Given the description of an element on the screen output the (x, y) to click on. 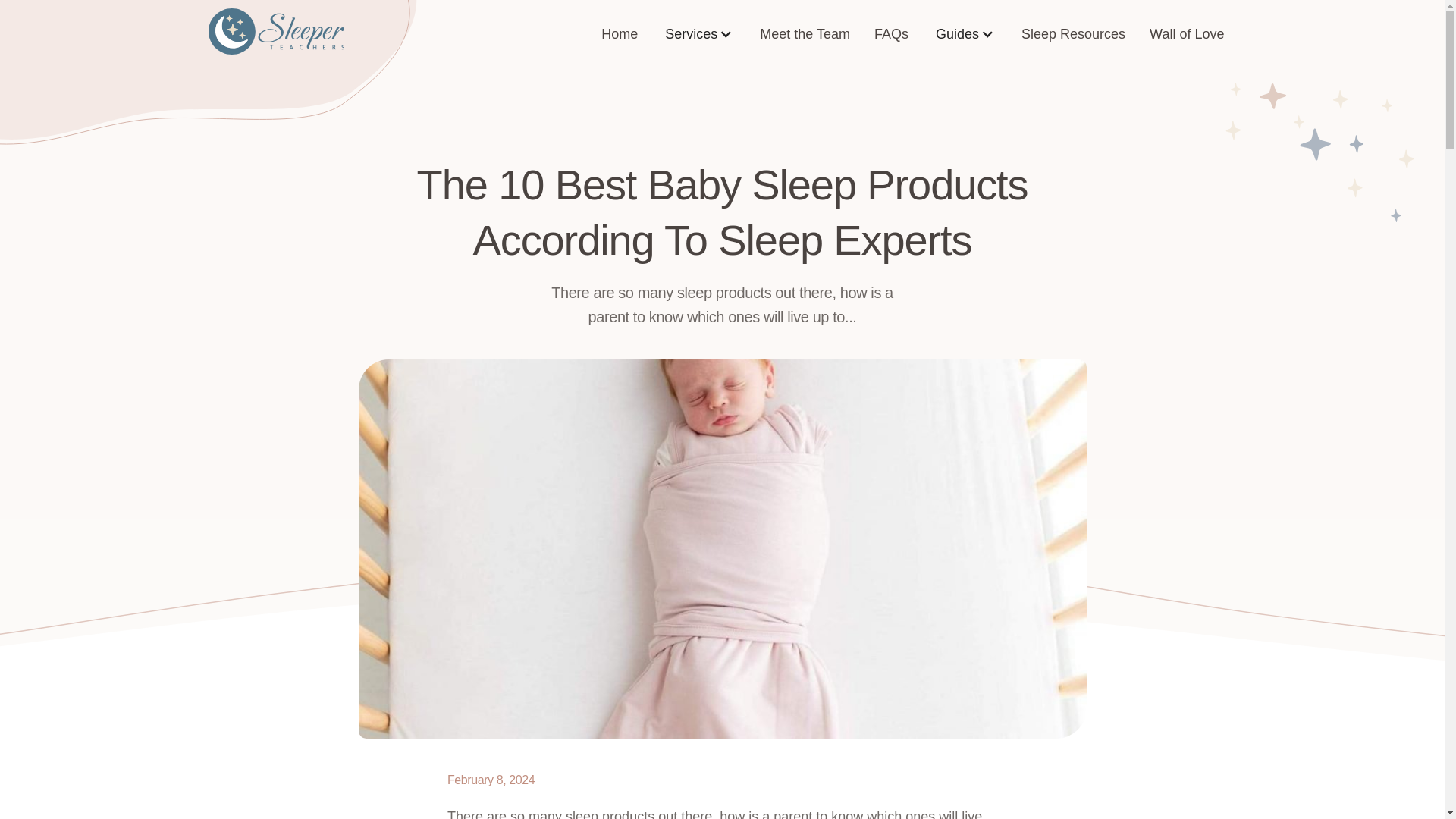
Wall of Love (1186, 34)
Home (619, 34)
Meet the Team (804, 34)
Sleep Resources (1073, 34)
FAQs (890, 34)
